Given the description of an element on the screen output the (x, y) to click on. 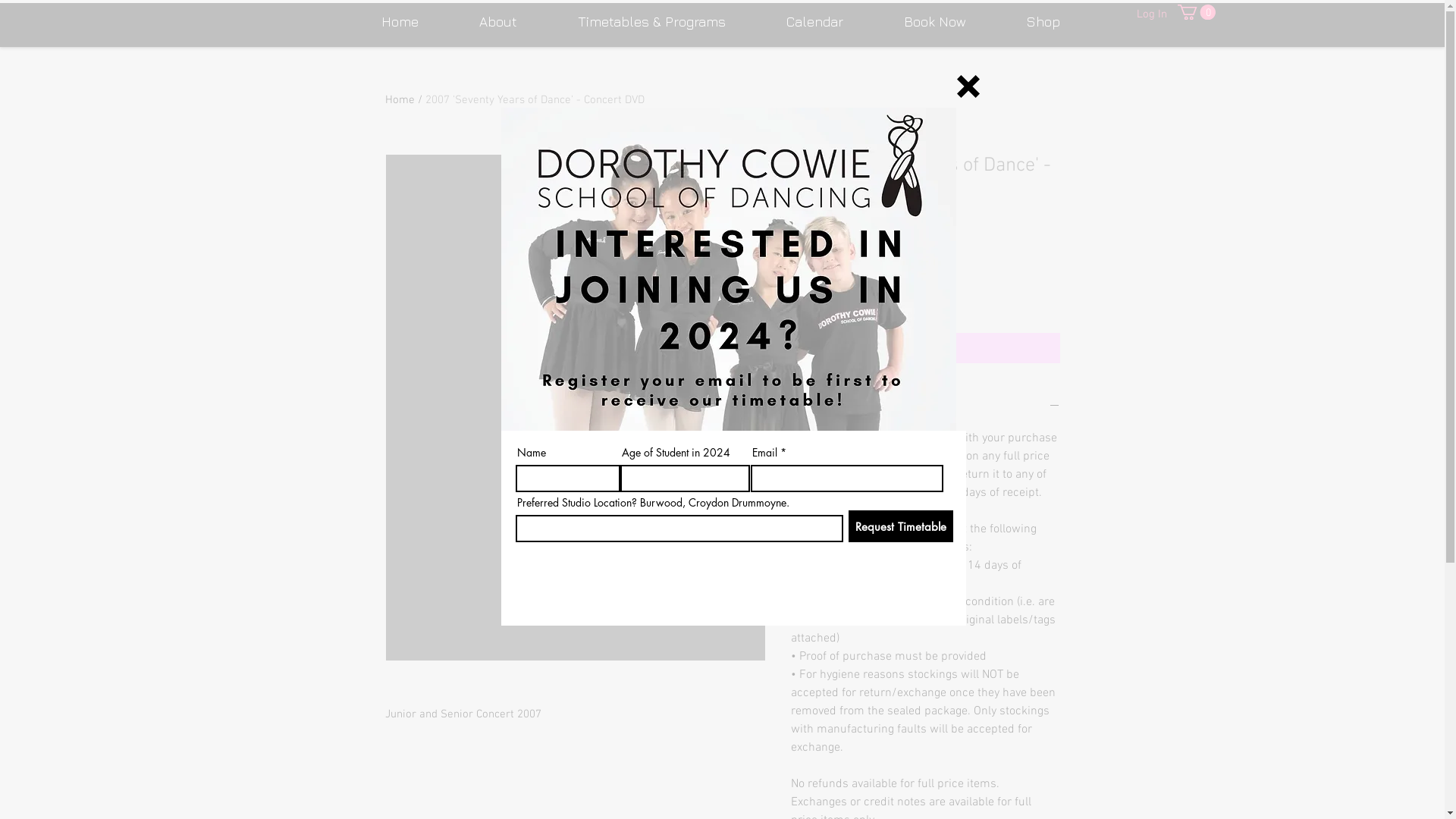
Home Element type: text (399, 99)
0 Element type: text (1195, 11)
2007 'Seventy Years of Dance' - Concert DVD Element type: text (533, 99)
Return/Exchange Policy Element type: text (924, 407)
Log In Element type: text (1150, 13)
Request Timetable Element type: text (899, 526)
Back to site Element type: hover (968, 86)
Add to Cart Element type: text (924, 347)
